Given the description of an element on the screen output the (x, y) to click on. 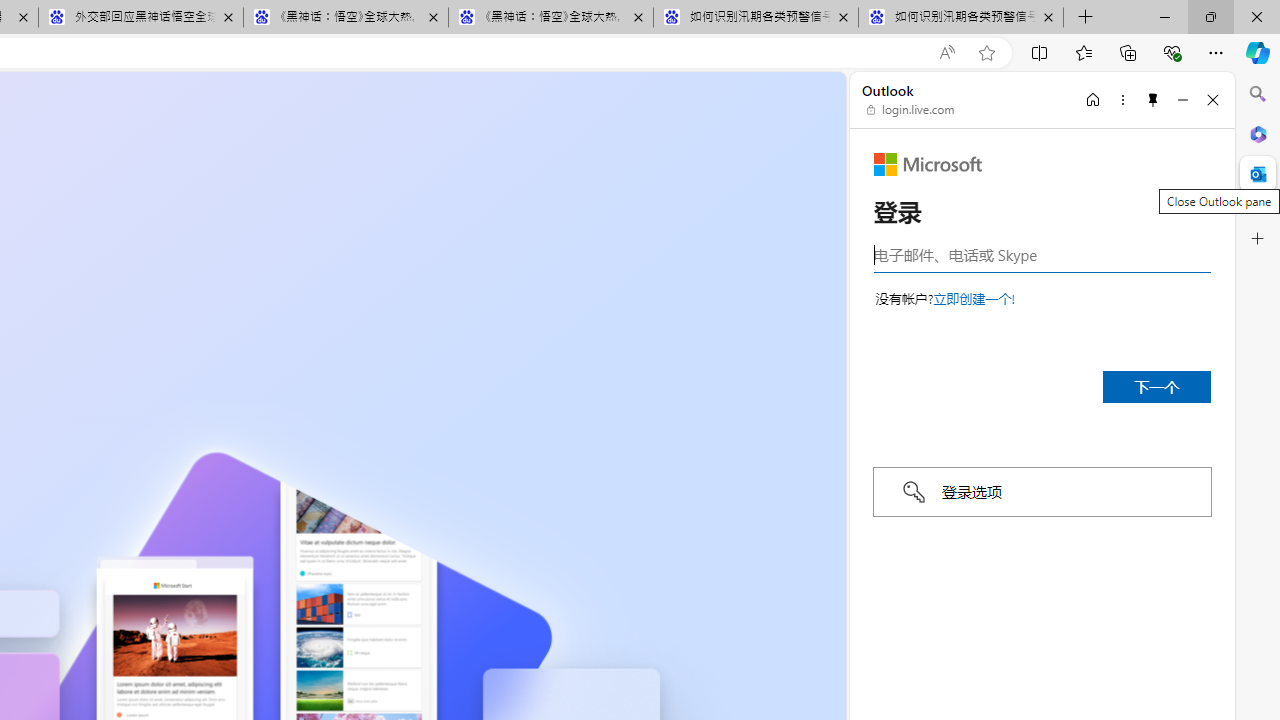
Microsoft (927, 164)
